Given the description of an element on the screen output the (x, y) to click on. 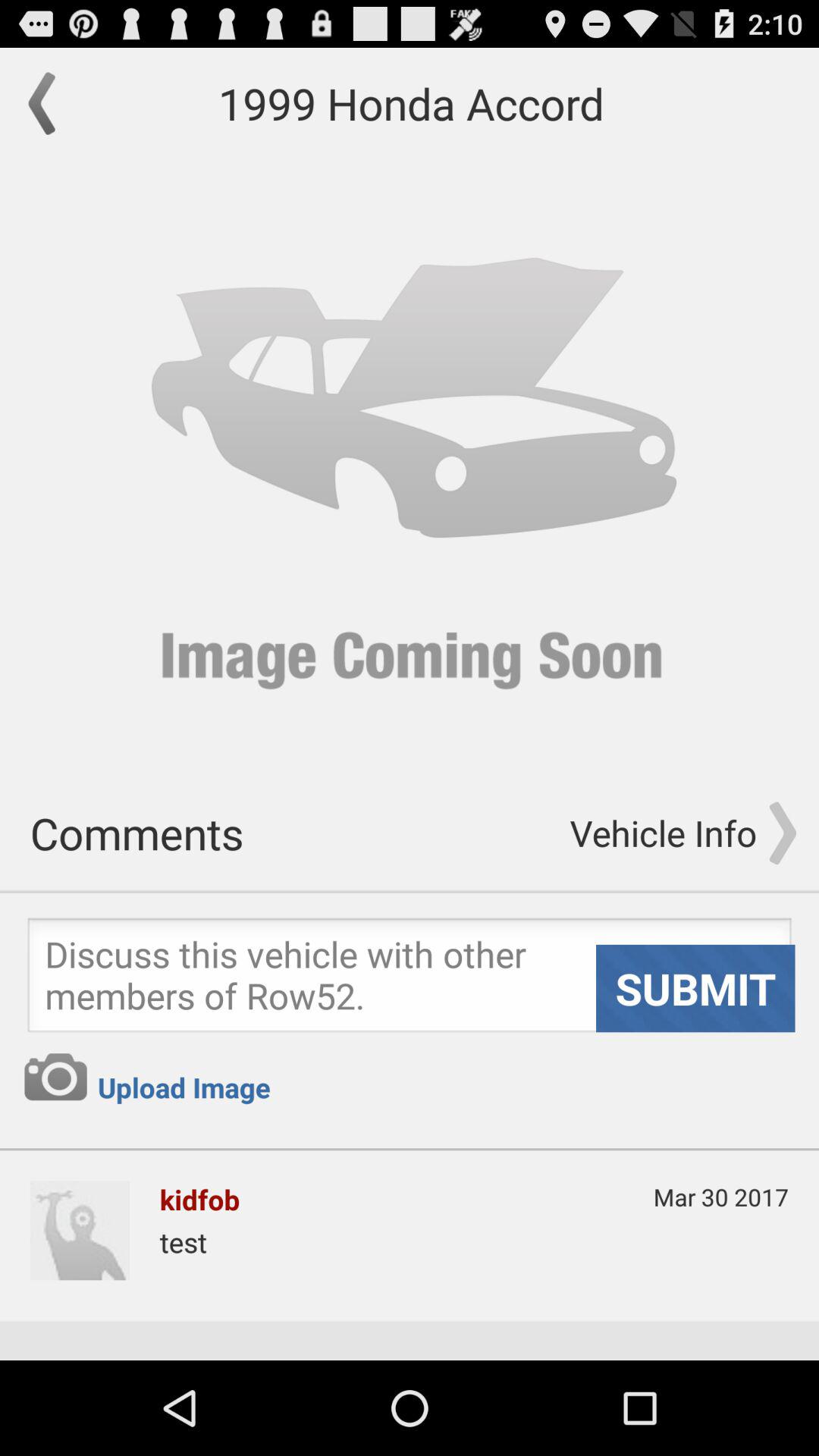
tap upload image app (183, 1087)
